Given the description of an element on the screen output the (x, y) to click on. 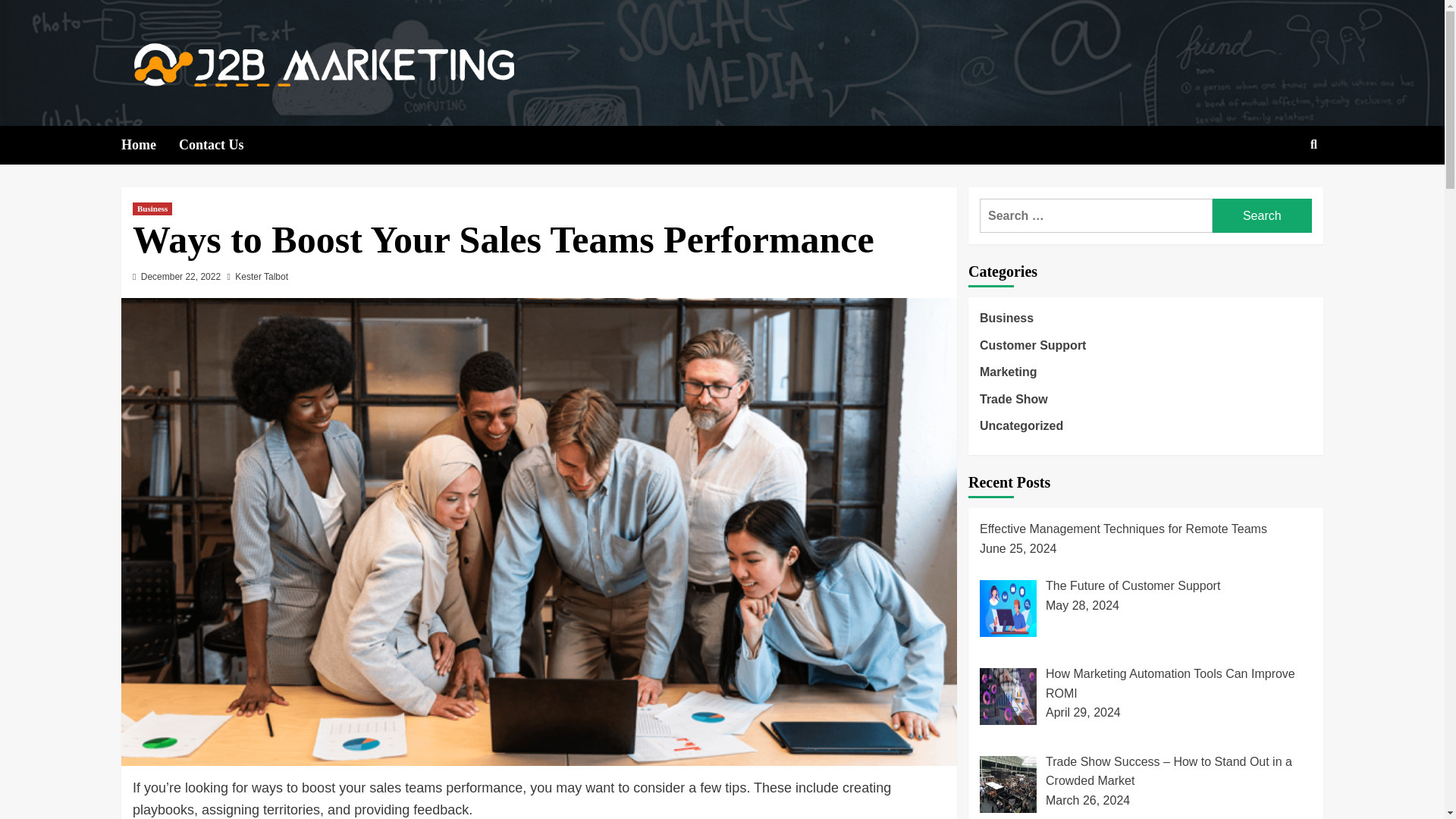
Kester Talbot (261, 276)
Business (1006, 321)
Search (1261, 215)
Search (1261, 215)
Home (149, 145)
Search (1261, 215)
Contact Us (222, 145)
Business (151, 208)
Search (1278, 193)
December 22, 2022 (181, 276)
